Given the description of an element on the screen output the (x, y) to click on. 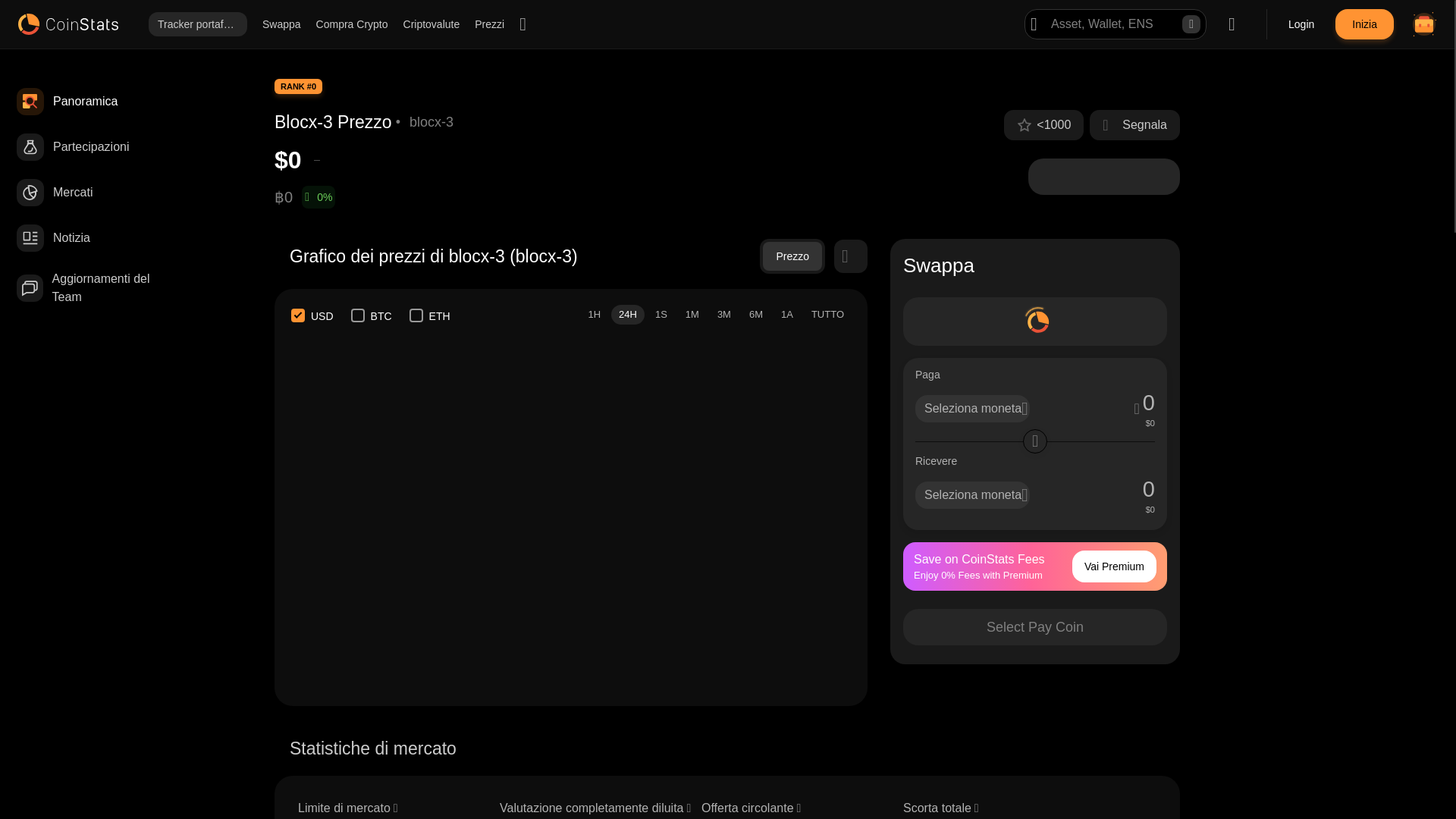
Segnala (1134, 124)
Tracker portafoglio (197, 24)
blocx-3 (430, 121)
blocx-3 Prezzo (333, 121)
Inizia (1364, 24)
Swappa (281, 23)
Tracker portafoglio (197, 24)
Prezzi (488, 23)
Criptovalute (431, 23)
Prezzi (488, 23)
Segnala (1144, 125)
Criptovalute (431, 23)
Seleziona moneta (972, 408)
Login (1300, 24)
Swappa (281, 23)
